Given the description of an element on the screen output the (x, y) to click on. 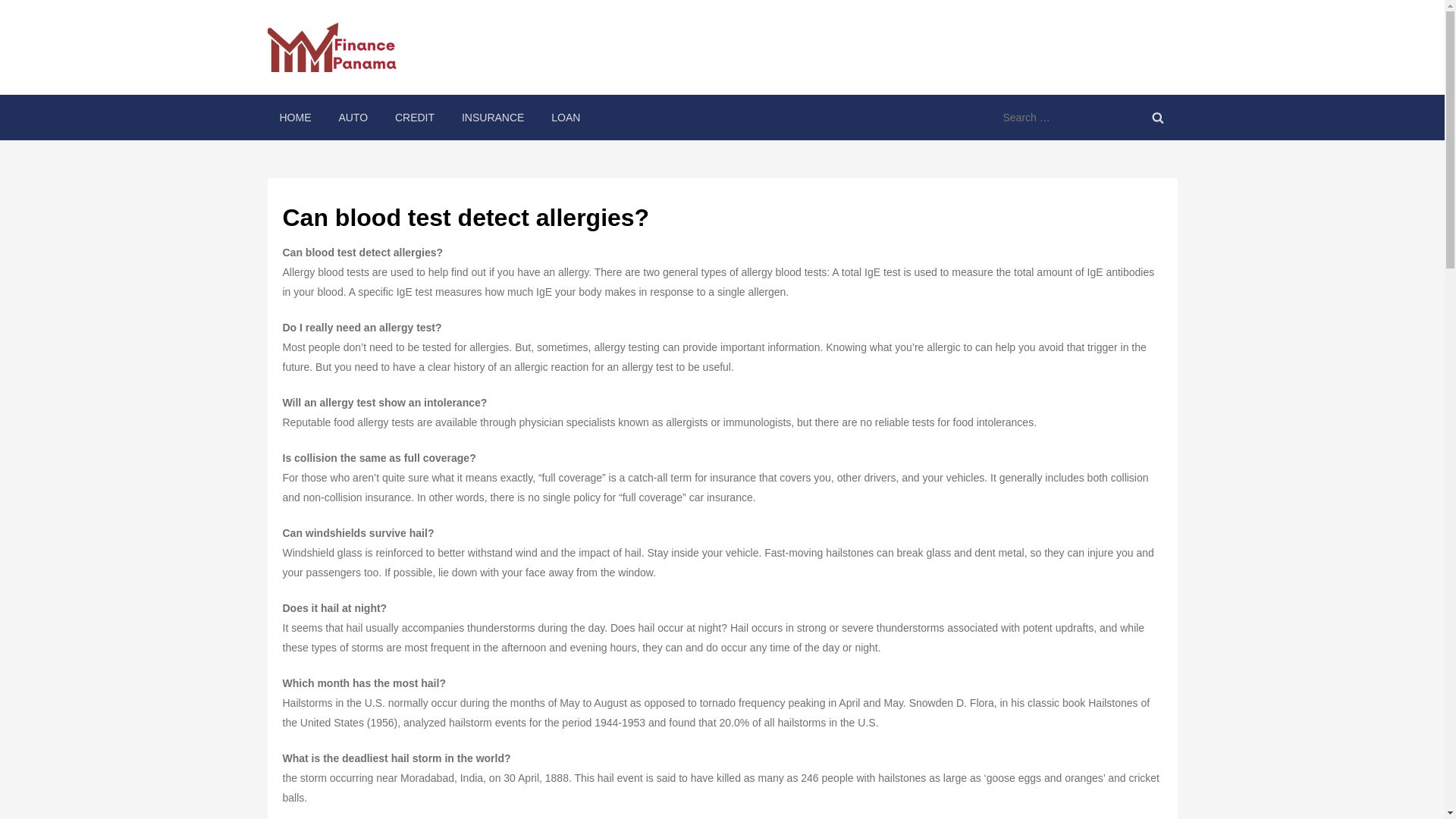
CREDIT (414, 117)
finance panama (480, 60)
AUTO (353, 117)
INSURANCE (492, 117)
LOAN (565, 117)
HOME (294, 117)
